Given the description of an element on the screen output the (x, y) to click on. 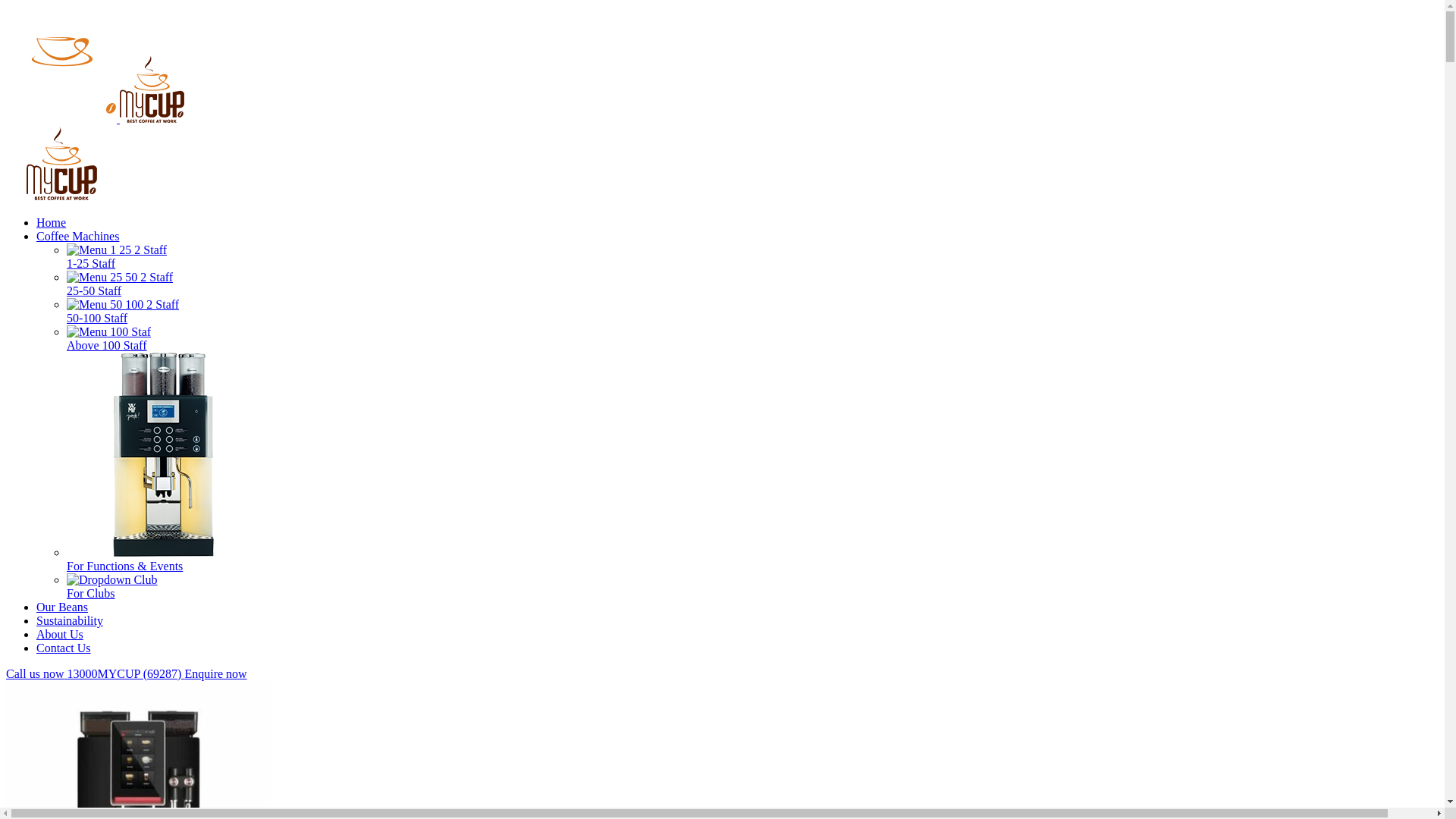
Enquire now Element type: text (215, 673)
1-25 Staff Element type: text (752, 256)
About Us Element type: text (59, 633)
Home Element type: text (50, 222)
Our Beans Element type: text (61, 606)
For Functions & Events Element type: text (752, 462)
50-100 Staff Element type: text (752, 311)
Above 100 Staff Element type: text (752, 338)
Sustainability Element type: text (69, 620)
For Clubs Element type: text (752, 586)
Contact Us Element type: text (63, 647)
Call us now 13000MYCUP (69287) Element type: text (95, 673)
25-50 Staff Element type: text (752, 283)
Coffee Machines Element type: text (77, 235)
